Given the description of an element on the screen output the (x, y) to click on. 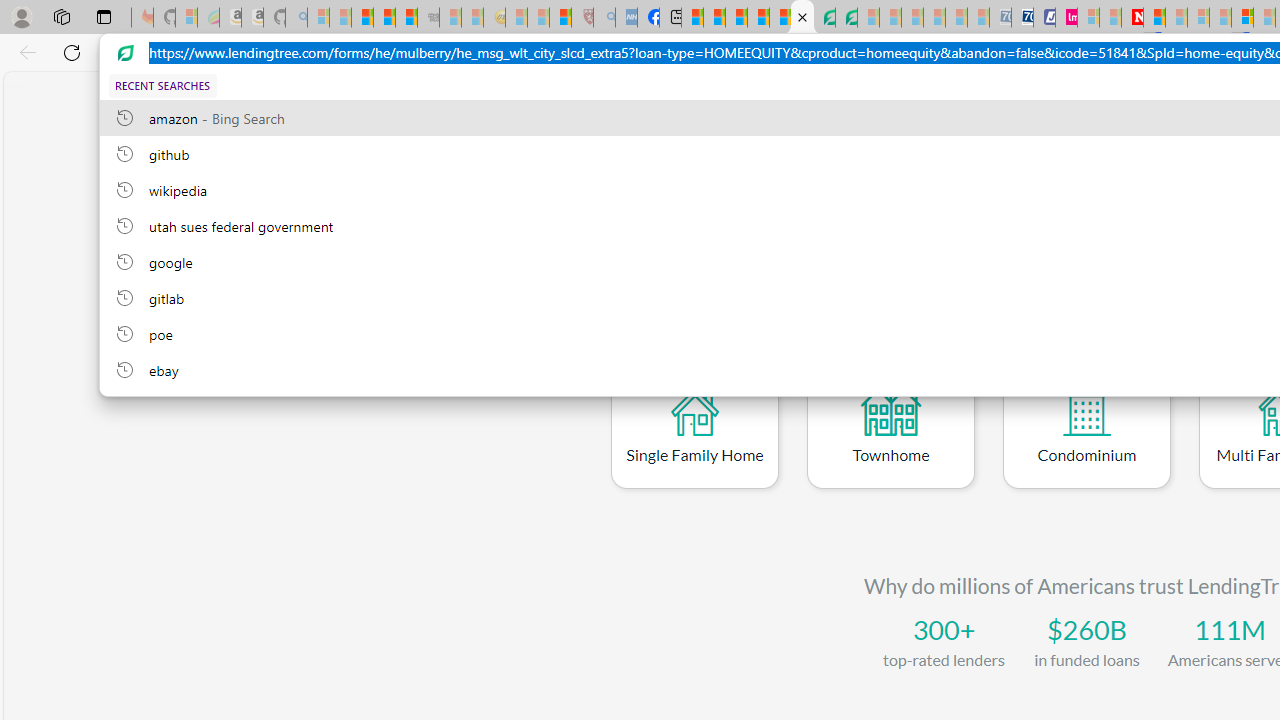
Local - MSN (560, 17)
